Given the description of an element on the screen output the (x, y) to click on. 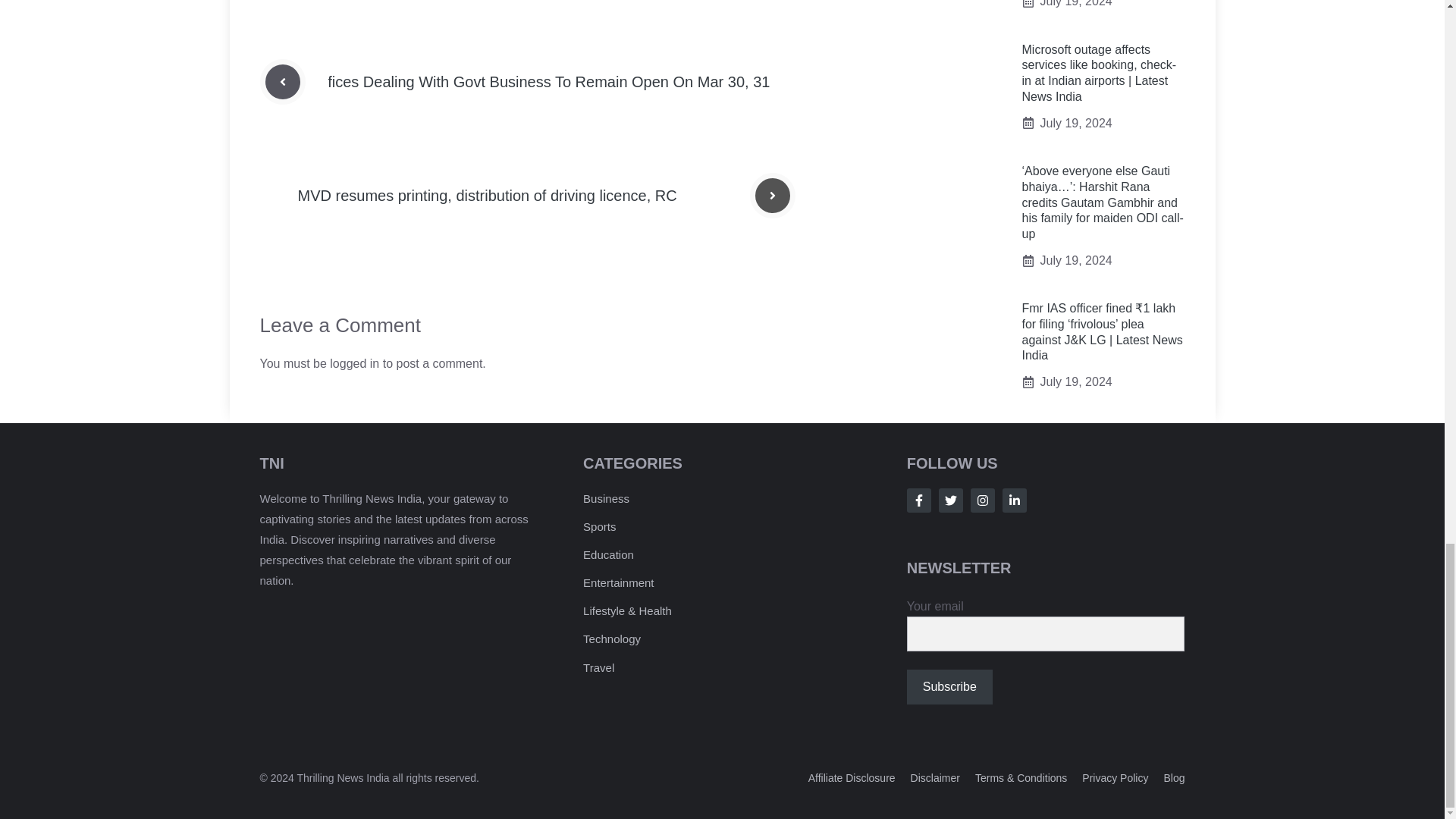
Technology (611, 638)
Business (605, 498)
MVD resumes printing, distribution of driving licence, RC (487, 195)
Travel (598, 667)
Education (608, 554)
logged in (354, 363)
Subscribe (949, 686)
Entertainment (618, 582)
Sports (599, 526)
